Given the description of an element on the screen output the (x, y) to click on. 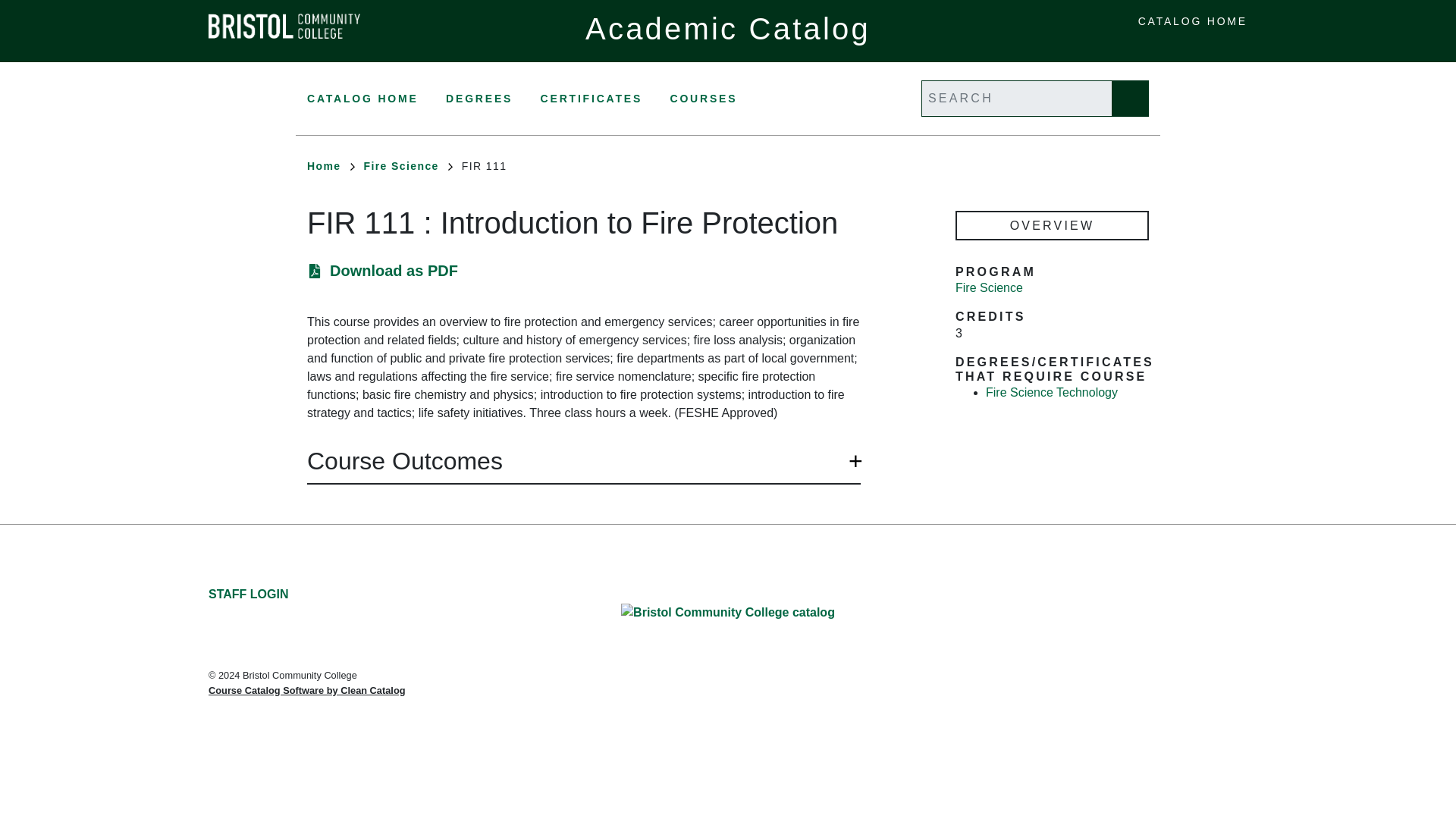
Fire Science (989, 287)
Search (1130, 98)
Download as PDF (394, 270)
DEGREES (478, 98)
Course Catalog Software by Clean Catalog (307, 690)
CATALOG HOME (1192, 21)
CATALOG HOME (363, 98)
Search (1130, 98)
STAFF LOGIN (248, 594)
Fire Science Technology (1051, 392)
CERTIFICATES (591, 98)
COURSES (703, 98)
